Given the description of an element on the screen output the (x, y) to click on. 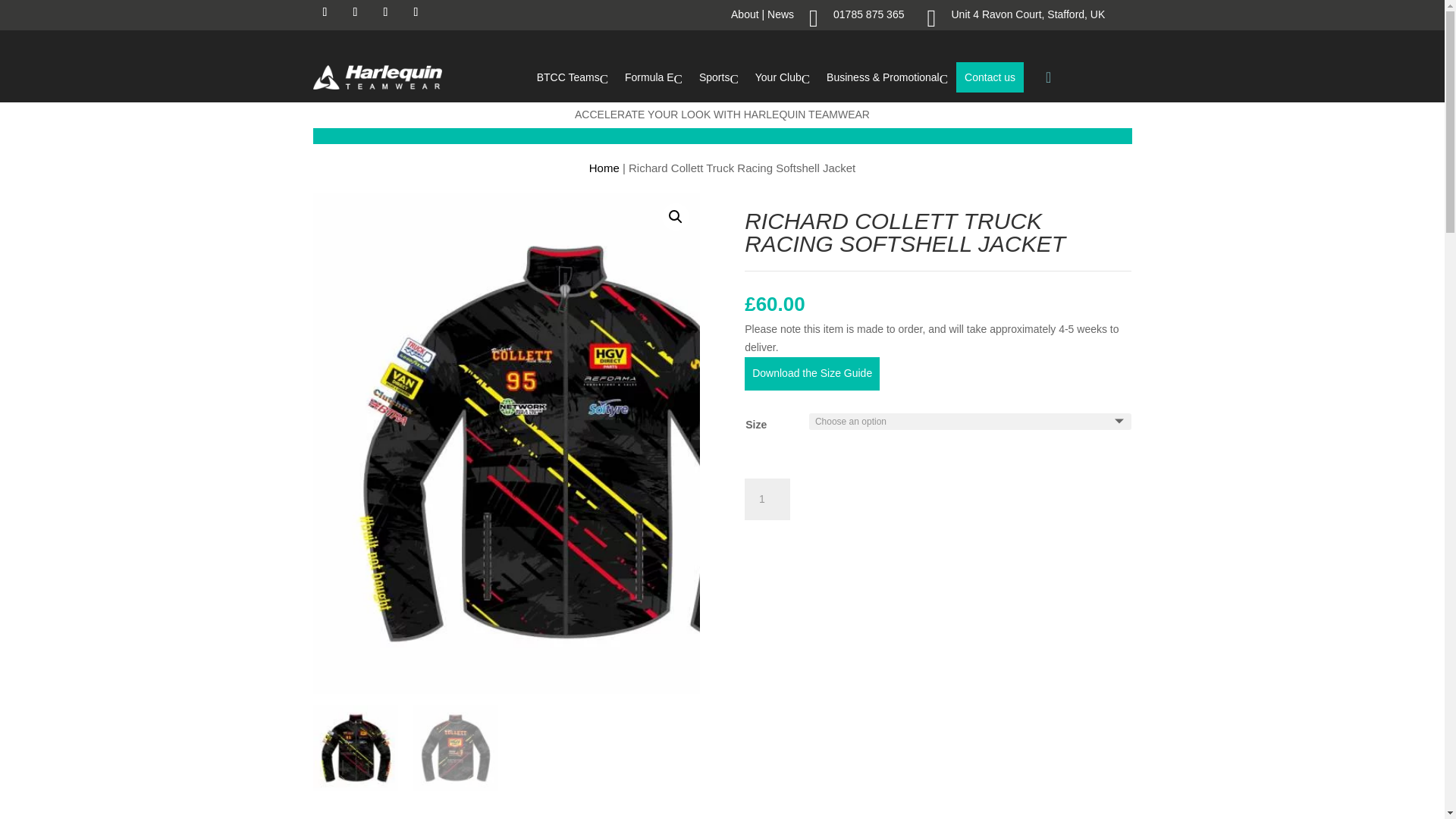
Follow on Facebook (324, 12)
Follow on X (384, 12)
Follow on Instagram (354, 12)
Follow on LinkedIn (415, 12)
1 (767, 499)
